Given the description of an element on the screen output the (x, y) to click on. 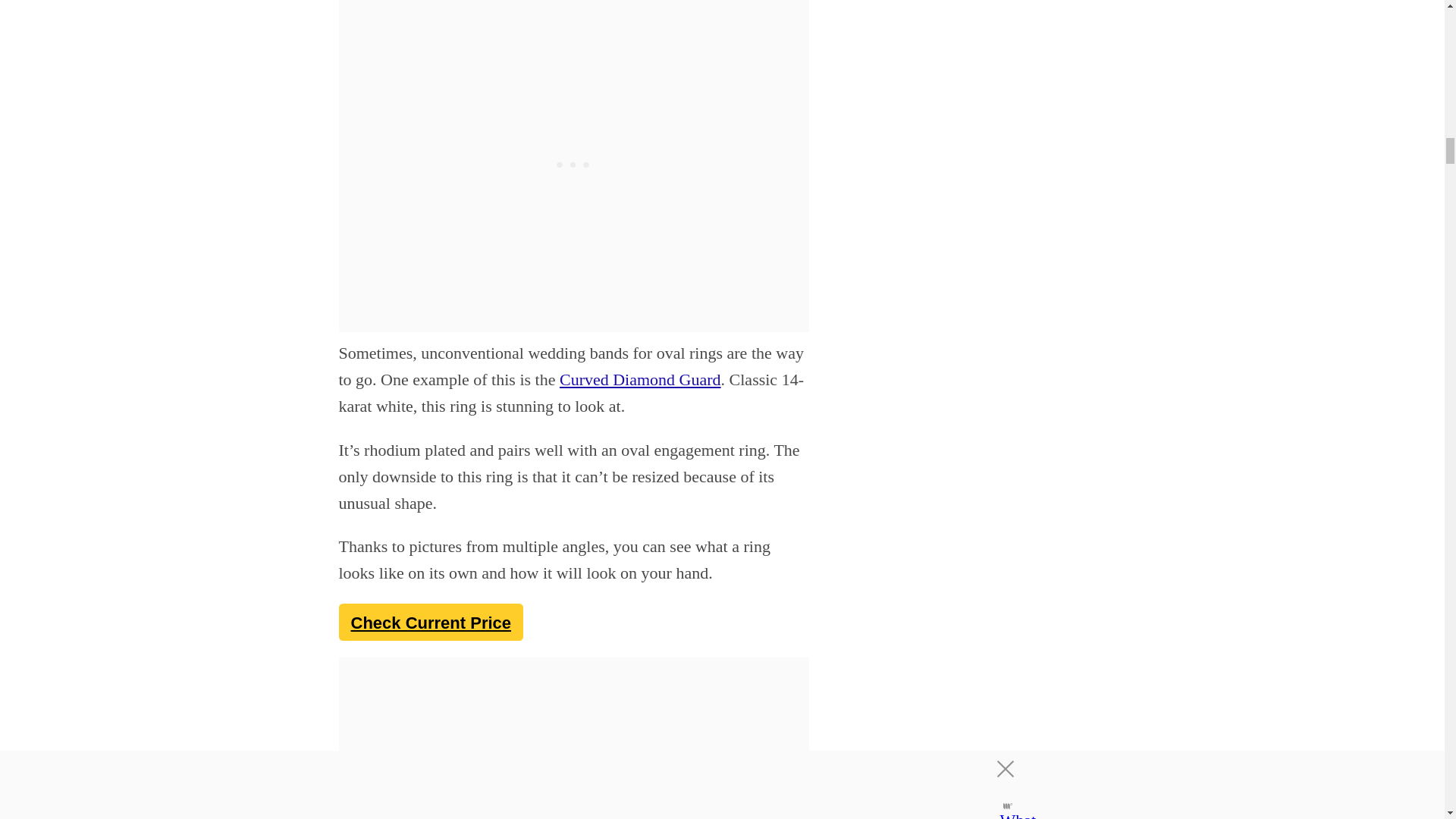
Curved Diamond Guard (639, 379)
Check Current Price (429, 622)
